Given the description of an element on the screen output the (x, y) to click on. 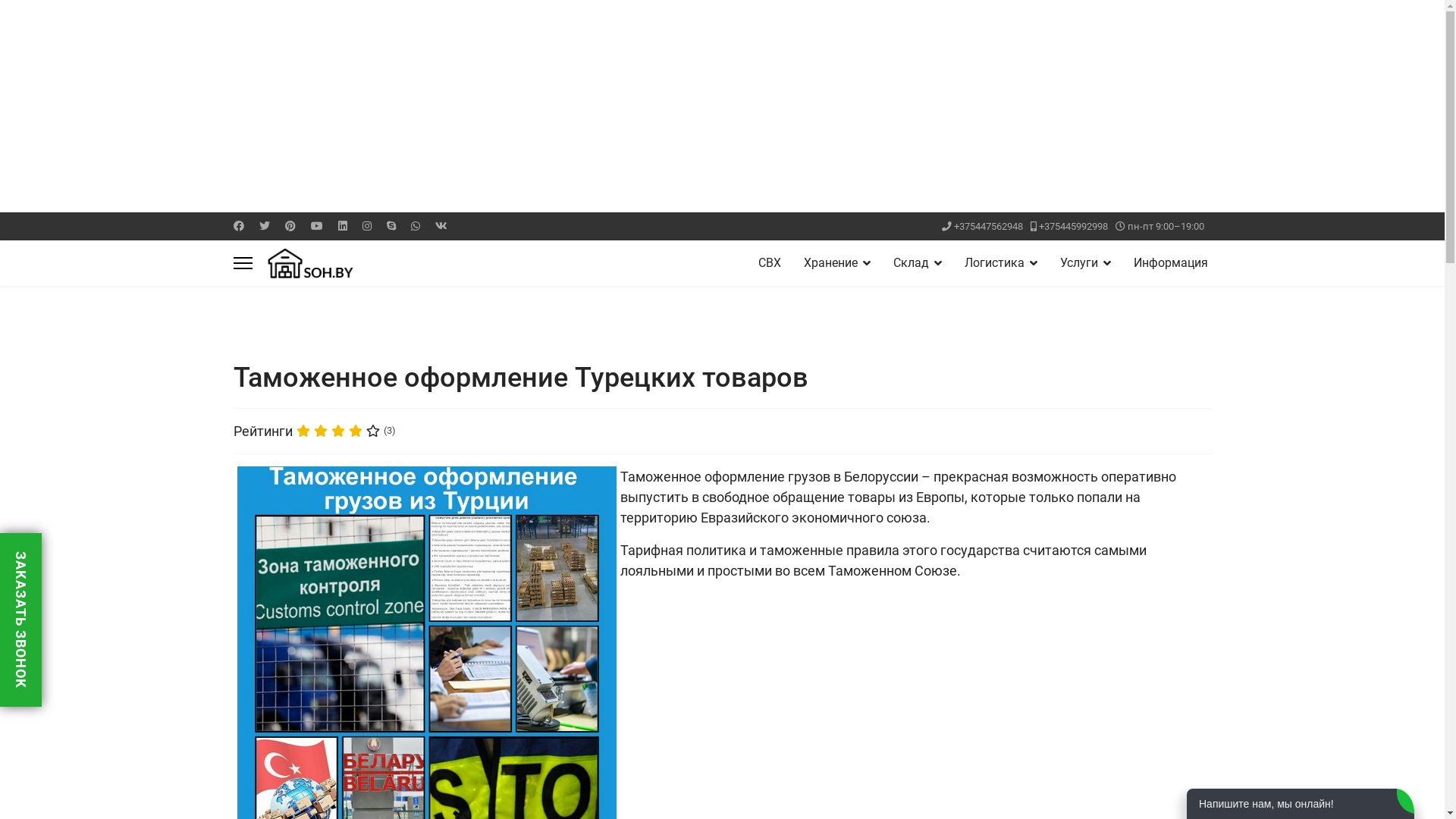
+375447562948 Element type: text (987, 226)
Advertisement Element type: hover (455, 106)
+375445992998 Element type: text (1072, 226)
